Given the description of an element on the screen output the (x, y) to click on. 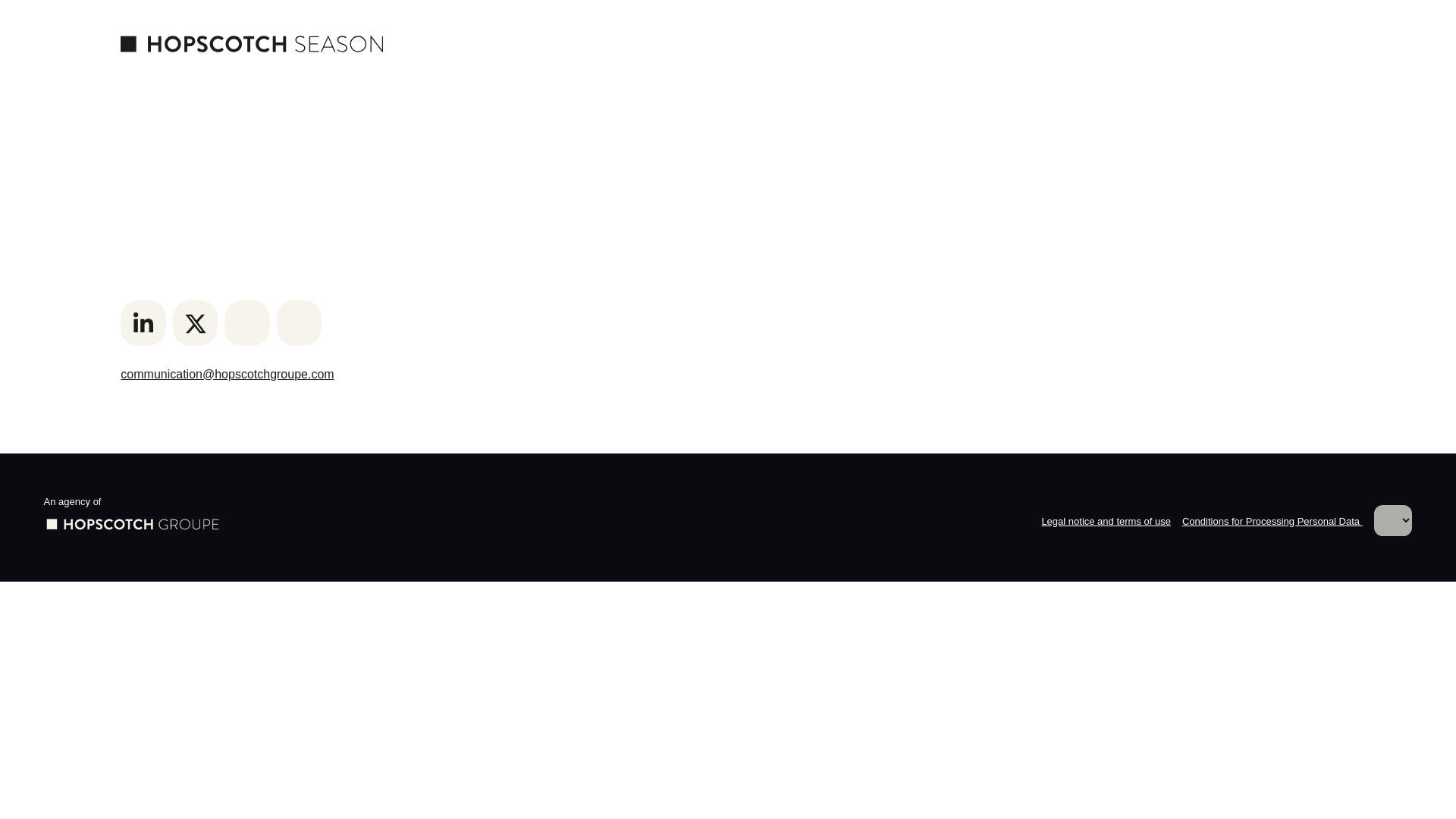
Legal notice and terms of use (1105, 521)
Conditions for Processing Personal Data  (1272, 521)
Hopscotch Season (251, 43)
